Given the description of an element on the screen output the (x, y) to click on. 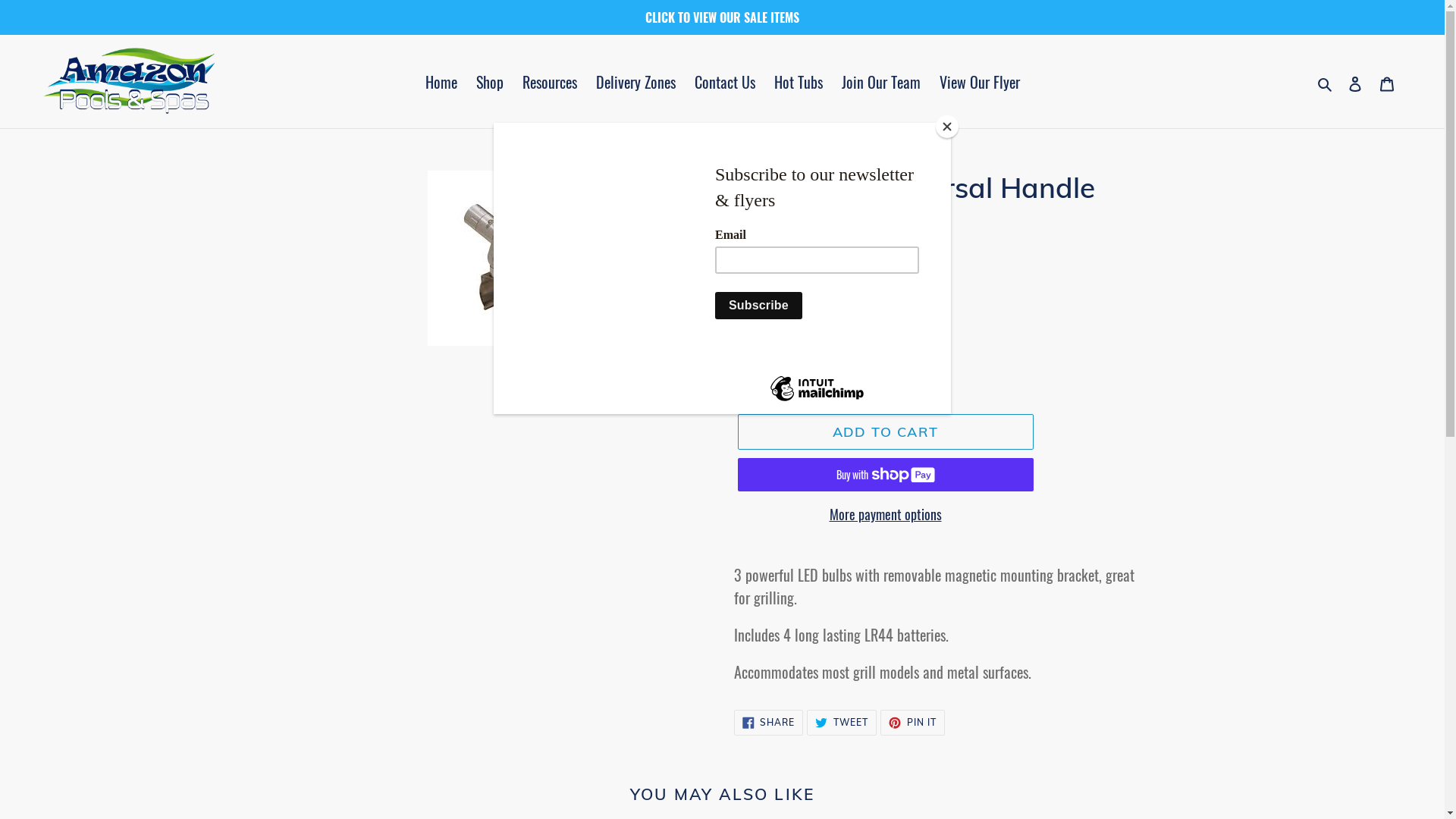
TWEET
TWEET ON TWITTER Element type: text (841, 722)
Log in Element type: text (1355, 81)
PIN IT
PIN ON PINTEREST Element type: text (912, 722)
Shop Element type: text (489, 81)
Home Element type: text (440, 81)
Join Our Team Element type: text (881, 81)
More payment options Element type: text (884, 514)
SHARE
SHARE ON FACEBOOK Element type: text (768, 722)
Search Element type: text (1325, 81)
Hot Tubs Element type: text (797, 81)
ADD TO CART Element type: text (884, 431)
CLICK TO VIEW OUR SALE ITEMS Element type: text (722, 17)
Resources Element type: text (548, 81)
Delivery Zones Element type: text (635, 81)
Cart Element type: text (1386, 81)
View Our Flyer Element type: text (978, 81)
Contact Us Element type: text (724, 81)
